Given the description of an element on the screen output the (x, y) to click on. 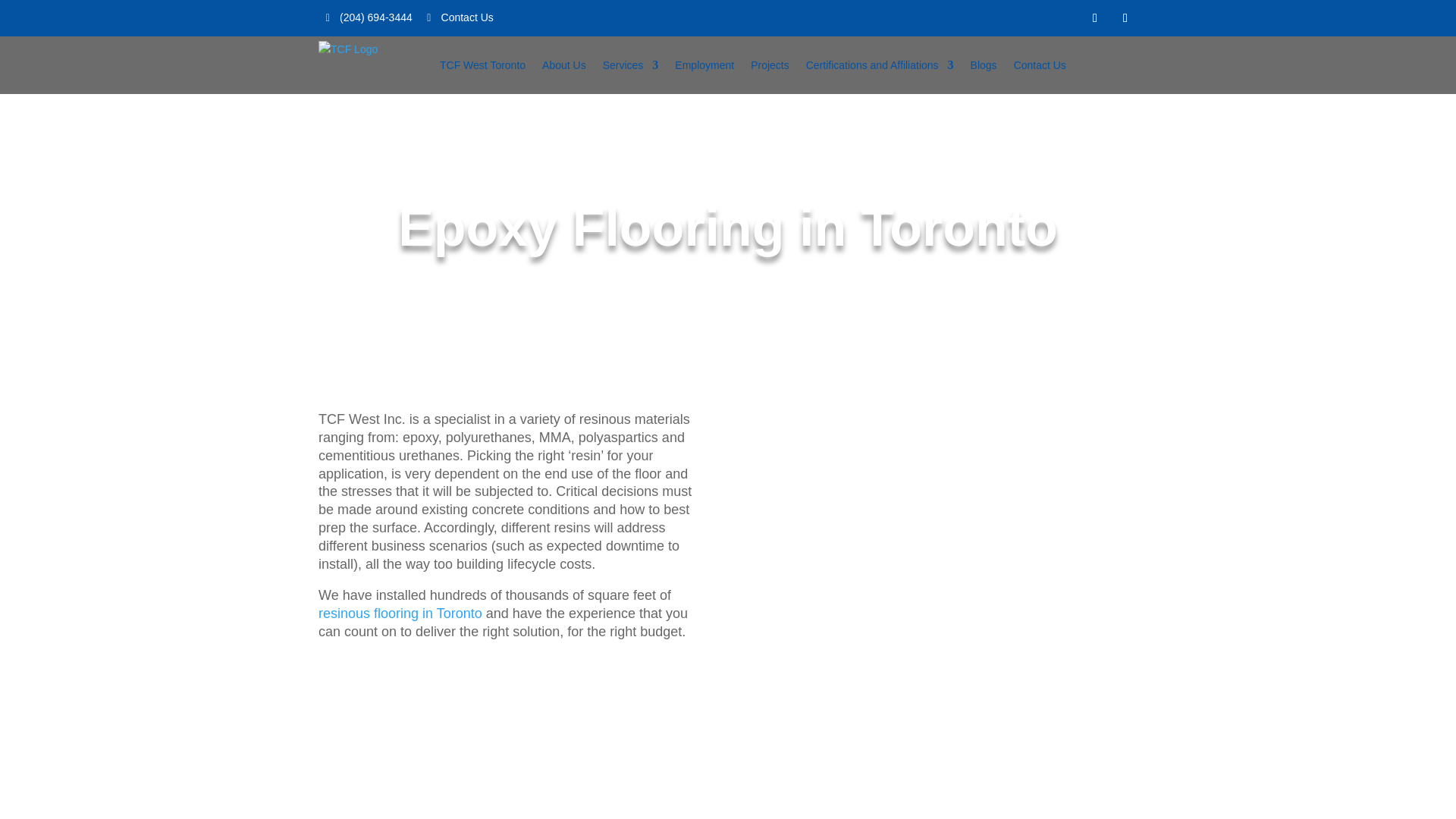
Employment (704, 65)
About Us (563, 65)
Services (630, 65)
Blogs (984, 65)
resinous flooring in Toronto (399, 613)
TCF West Toronto (482, 65)
Follow on RSS (1125, 17)
Projects (770, 65)
Contact Us (1039, 65)
Certifications and Affiliations (879, 65)
Follow on Facebook (1094, 17)
Contact Us (460, 17)
